Given the description of an element on the screen output the (x, y) to click on. 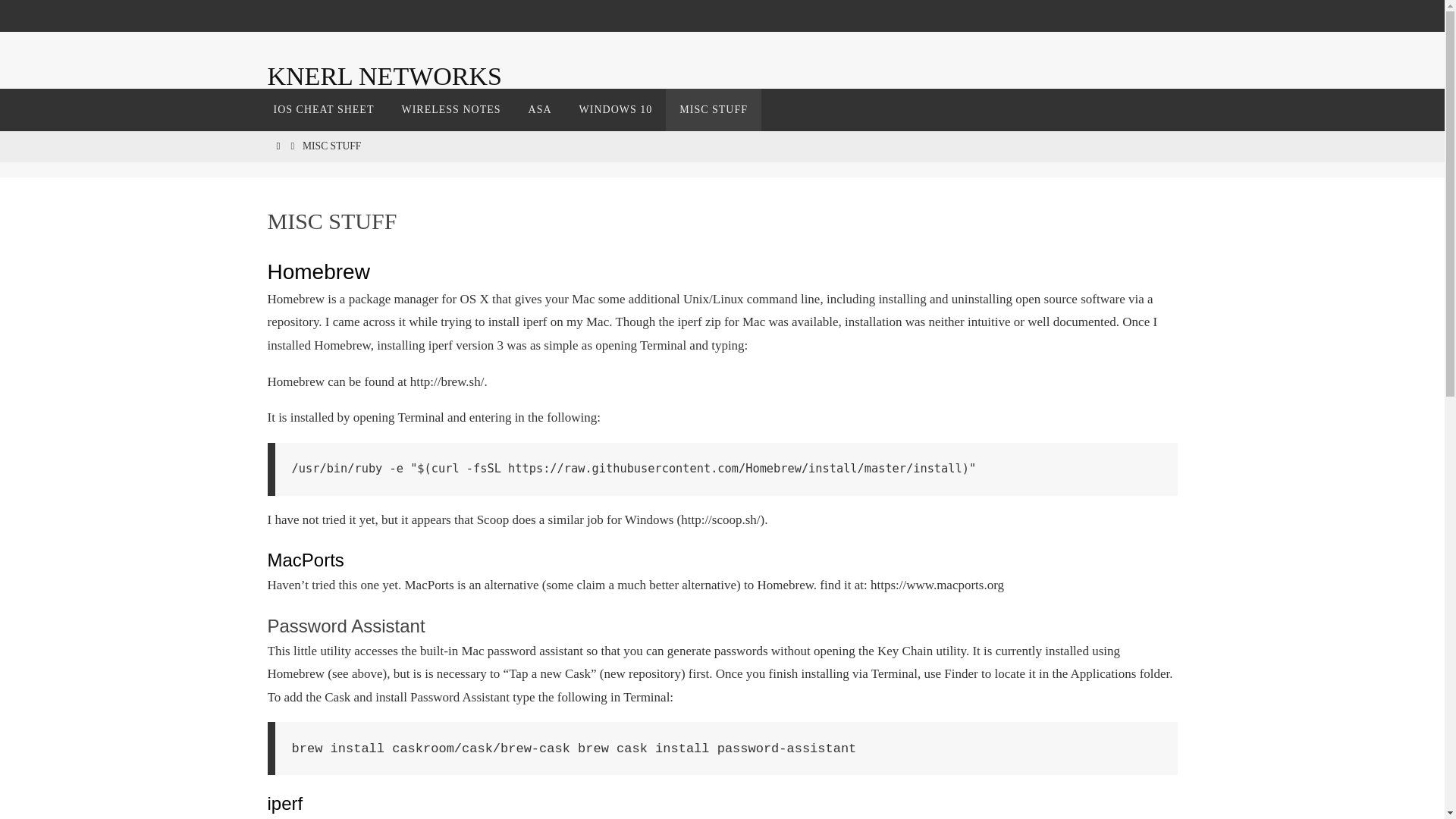
MISC STUFF (713, 109)
HOME (277, 145)
WINDOWS 10 (616, 109)
WIRELESS NOTES (450, 109)
IOS CHEAT SHEET (323, 109)
KNERL NETWORKS (383, 76)
Knerl Networks (383, 76)
ASA (540, 109)
